Given the description of an element on the screen output the (x, y) to click on. 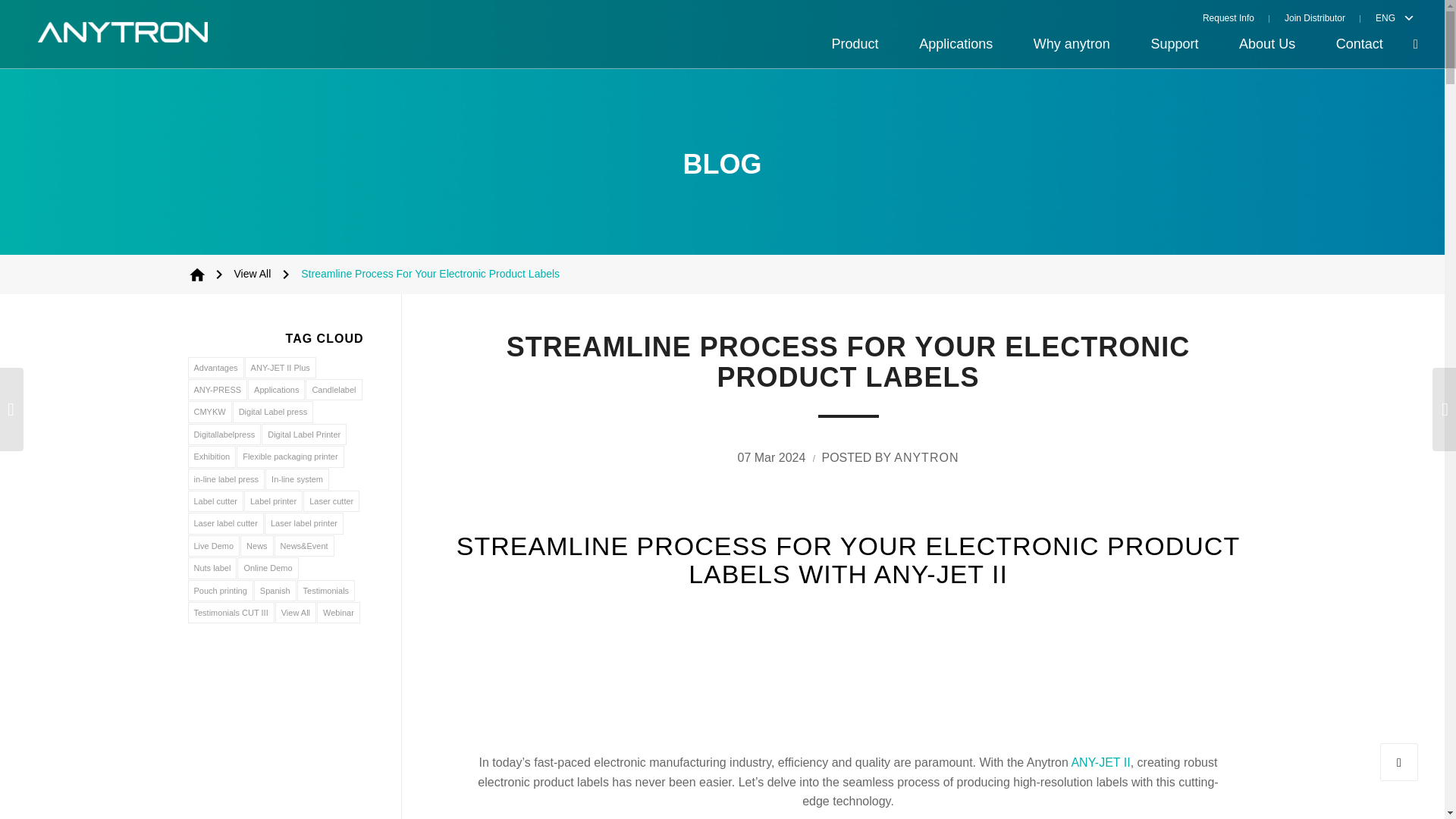
Scroll to top (1399, 761)
Applications (955, 44)
Request Info (1235, 17)
Join Distributor (1314, 17)
Anytron - Digital Print Pro (196, 274)
Product (855, 44)
ENG (1381, 17)
